Given the description of an element on the screen output the (x, y) to click on. 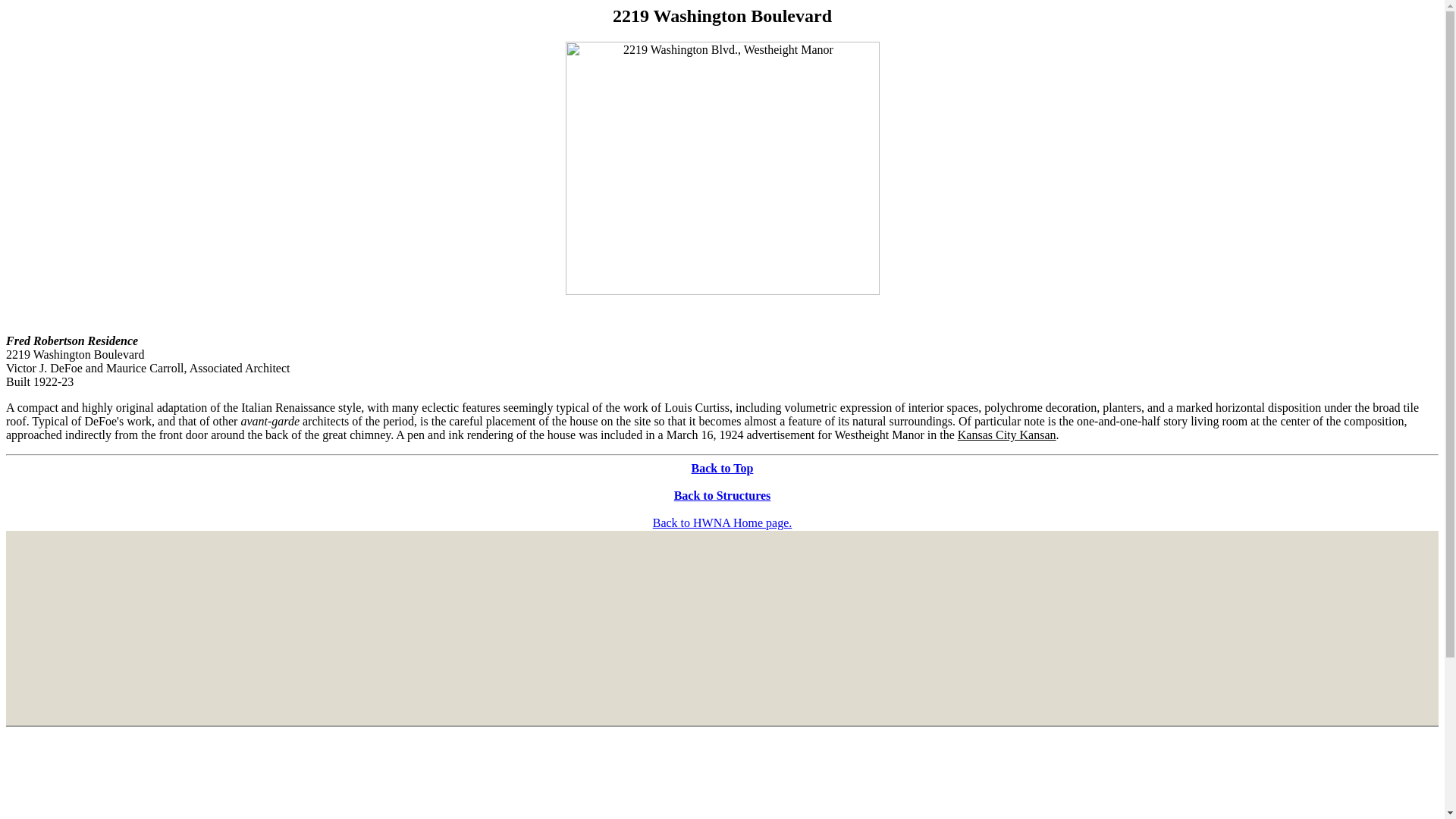
Back to HWNA Home page. (722, 522)
Back to Top (722, 468)
Back to Structures (722, 495)
2219 Washington Boulevard (721, 15)
